Given the description of an element on the screen output the (x, y) to click on. 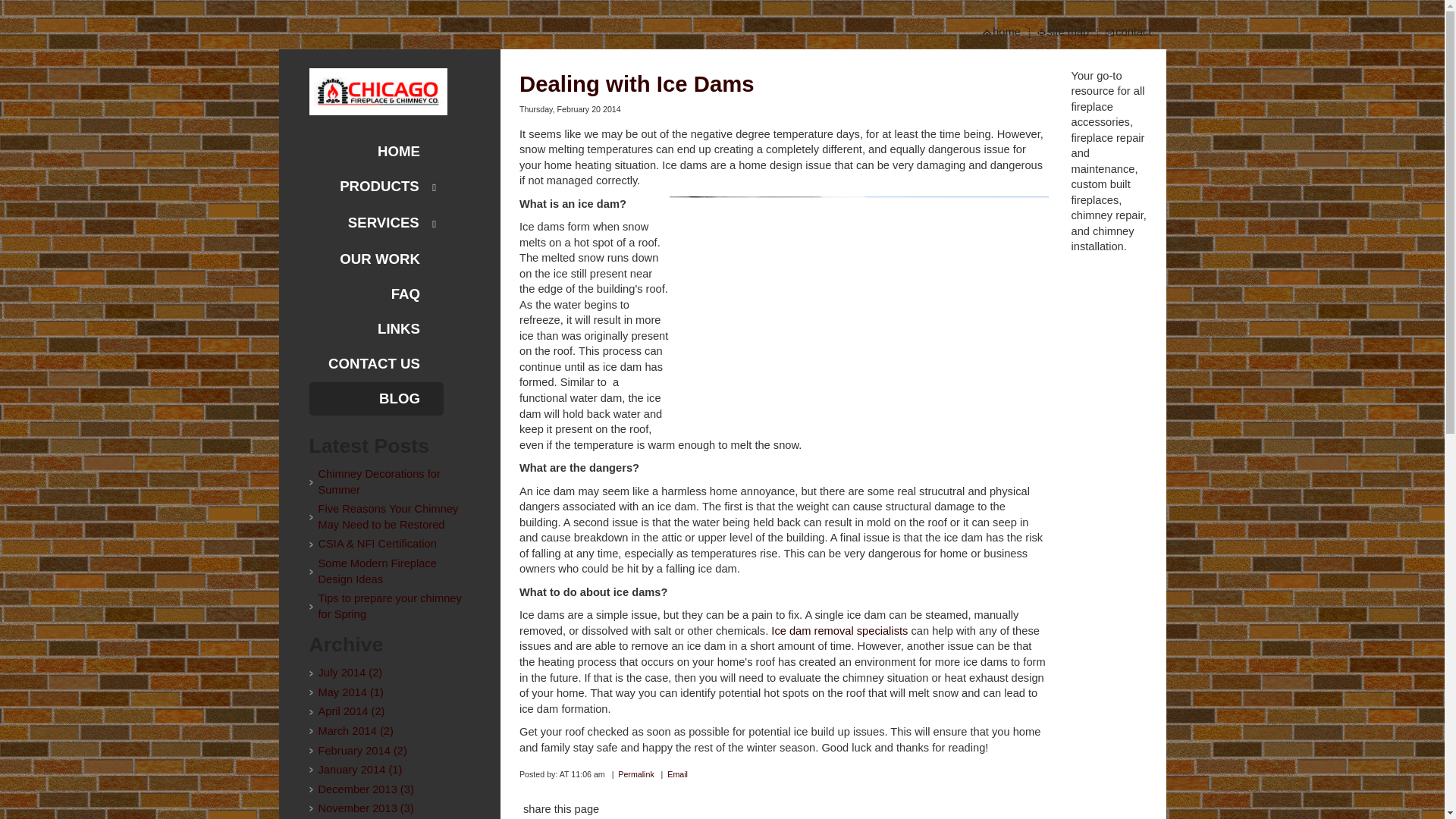
Tips to prepare your chimney for Spring (389, 605)
HOME (376, 151)
Five Reasons Your Chimney May Need to be Restored (389, 516)
OUR WORK (376, 259)
BLOG (376, 398)
Chimney Decorations for Summer (389, 481)
Some Modern Fireplace Design Ideas (389, 571)
CONTACT US (376, 363)
FAQ (376, 294)
home (1007, 32)
